Given the description of an element on the screen output the (x, y) to click on. 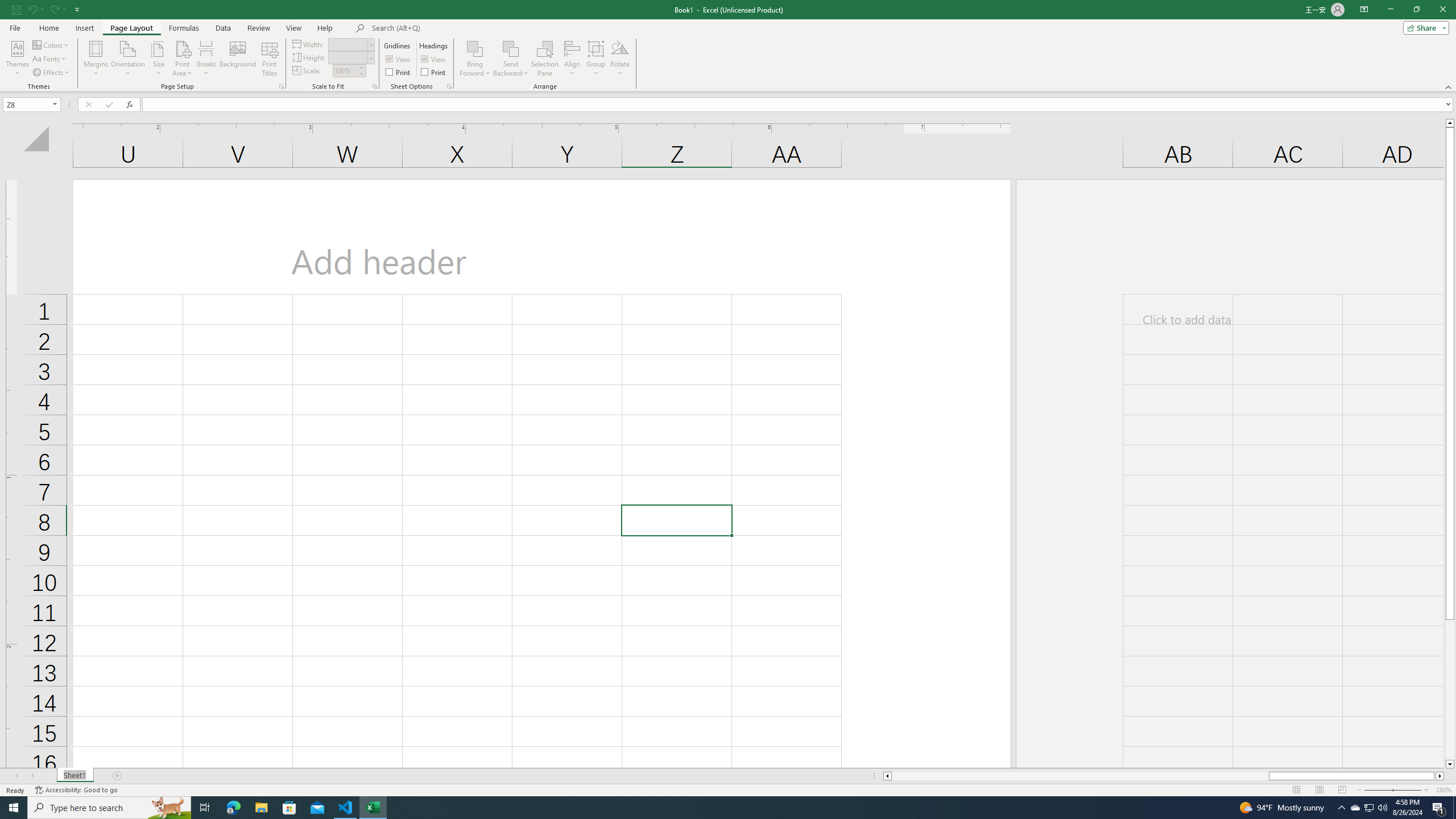
Name Box (30, 104)
More (360, 67)
Open (54, 104)
Quick Access Toolbar (46, 9)
Class: NetUIScrollBar (1163, 775)
Fonts (49, 58)
Page Layout (1318, 790)
View (293, 28)
Insert (83, 28)
Undo (35, 9)
Width (350, 44)
Class: MsoCommandBar (728, 45)
Minimize (1390, 9)
Column right (1440, 775)
Sheet Options (449, 85)
